Given the description of an element on the screen output the (x, y) to click on. 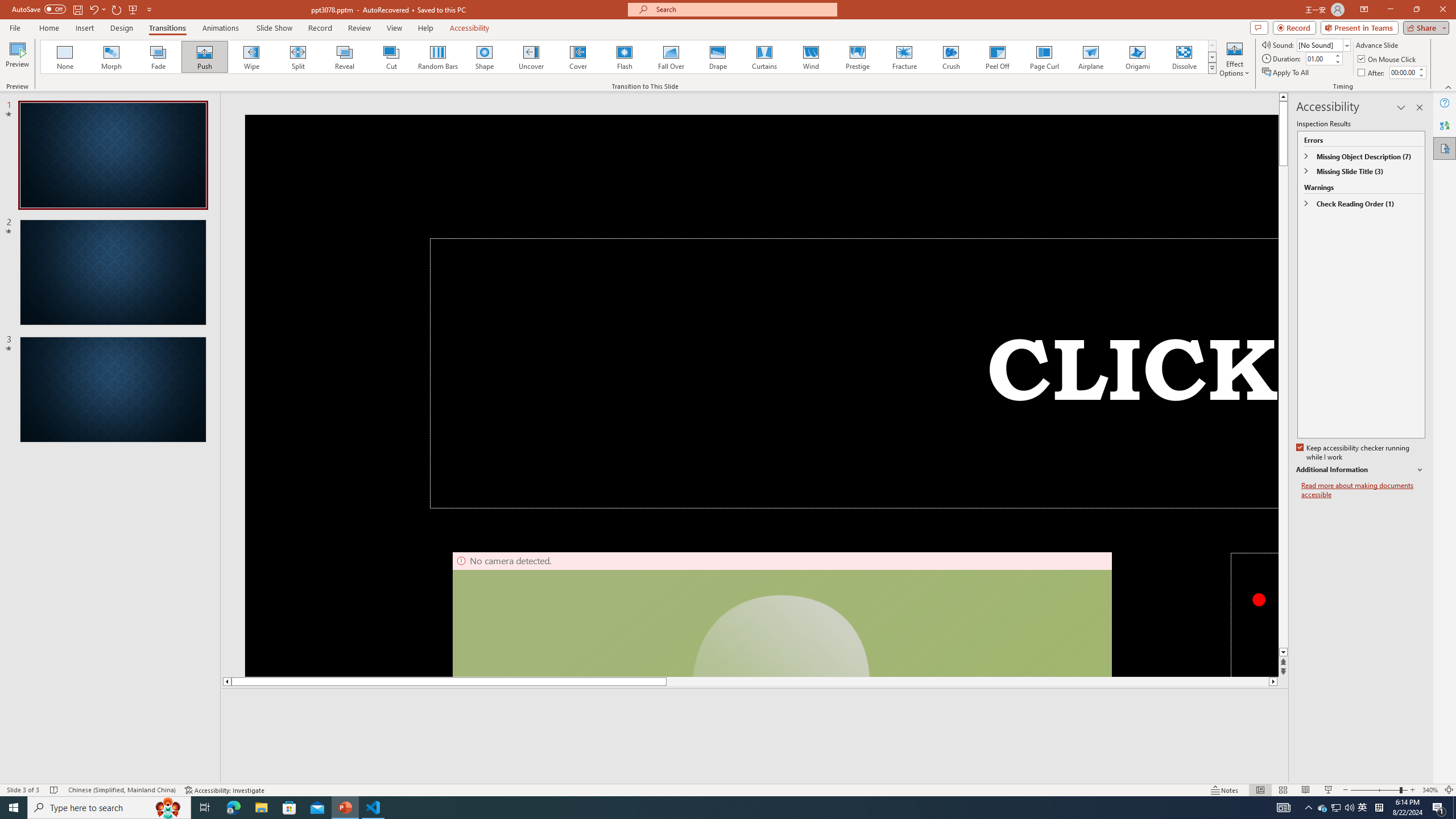
Morph (111, 56)
